Given the description of an element on the screen output the (x, y) to click on. 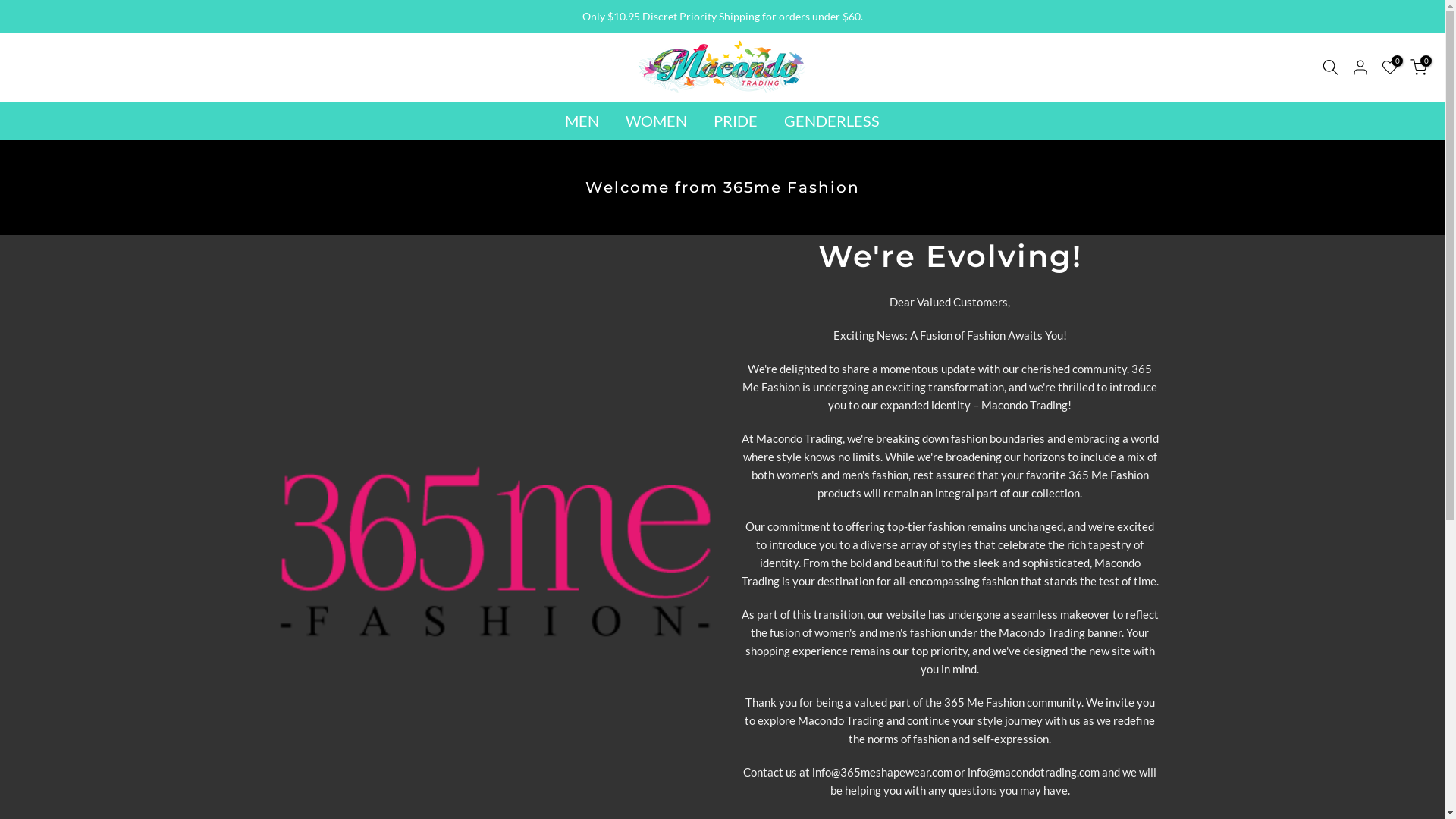
GENDERLESS Element type: text (831, 120)
0 Element type: text (1418, 67)
0 Element type: text (1389, 67)
PRIDE Element type: text (735, 120)
WOMEN Element type: text (656, 120)
MEN Element type: text (582, 120)
